Given the description of an element on the screen output the (x, y) to click on. 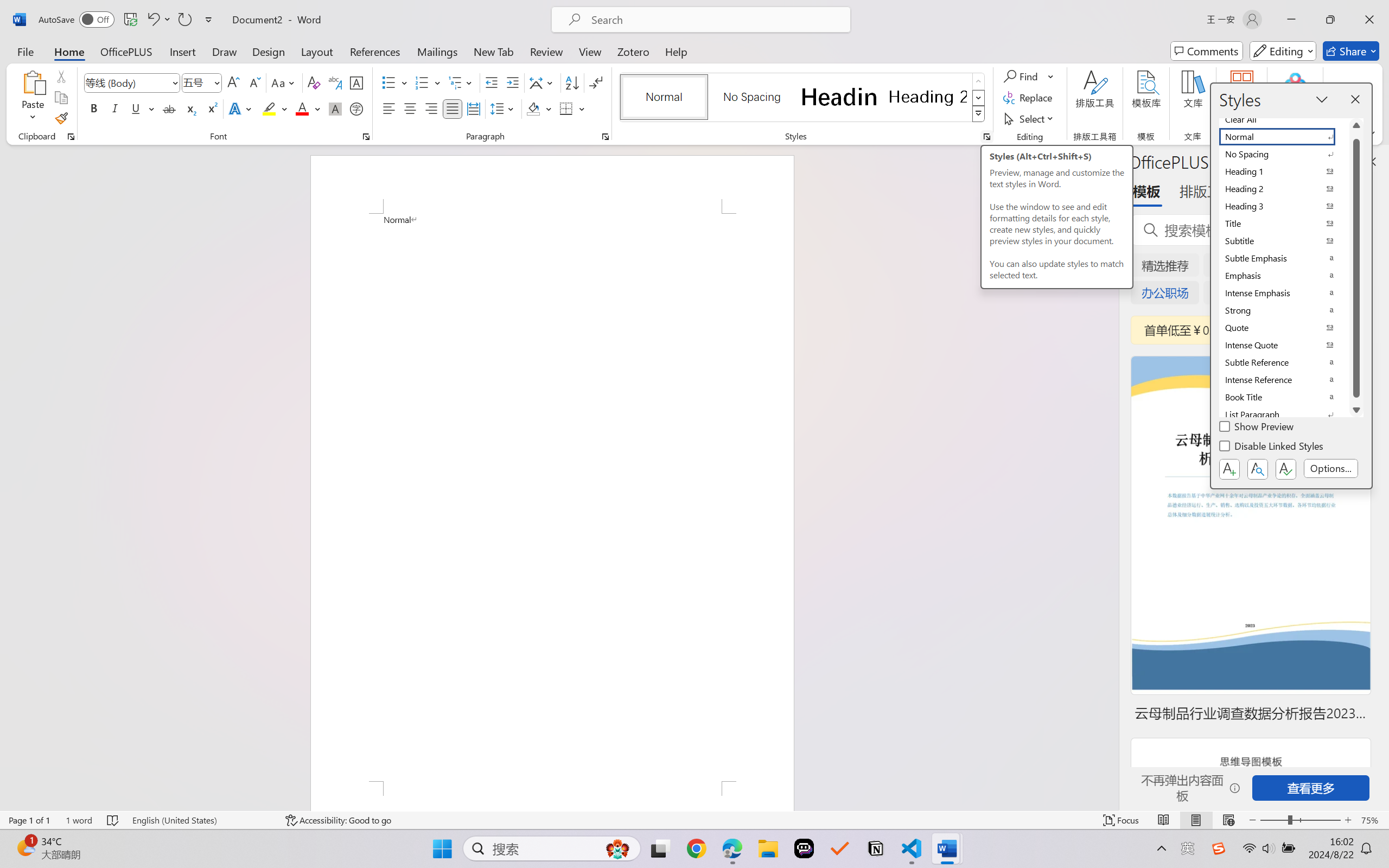
Font Color Red (302, 108)
Help (675, 51)
Font Size (201, 82)
Title (1283, 223)
Decrease Indent (491, 82)
Class: NetUIImage (978, 114)
Multilevel List (461, 82)
Zotero (632, 51)
Subtle Reference (1283, 362)
Design (268, 51)
Minimize (1291, 19)
List Paragraph (1283, 414)
